Given the description of an element on the screen output the (x, y) to click on. 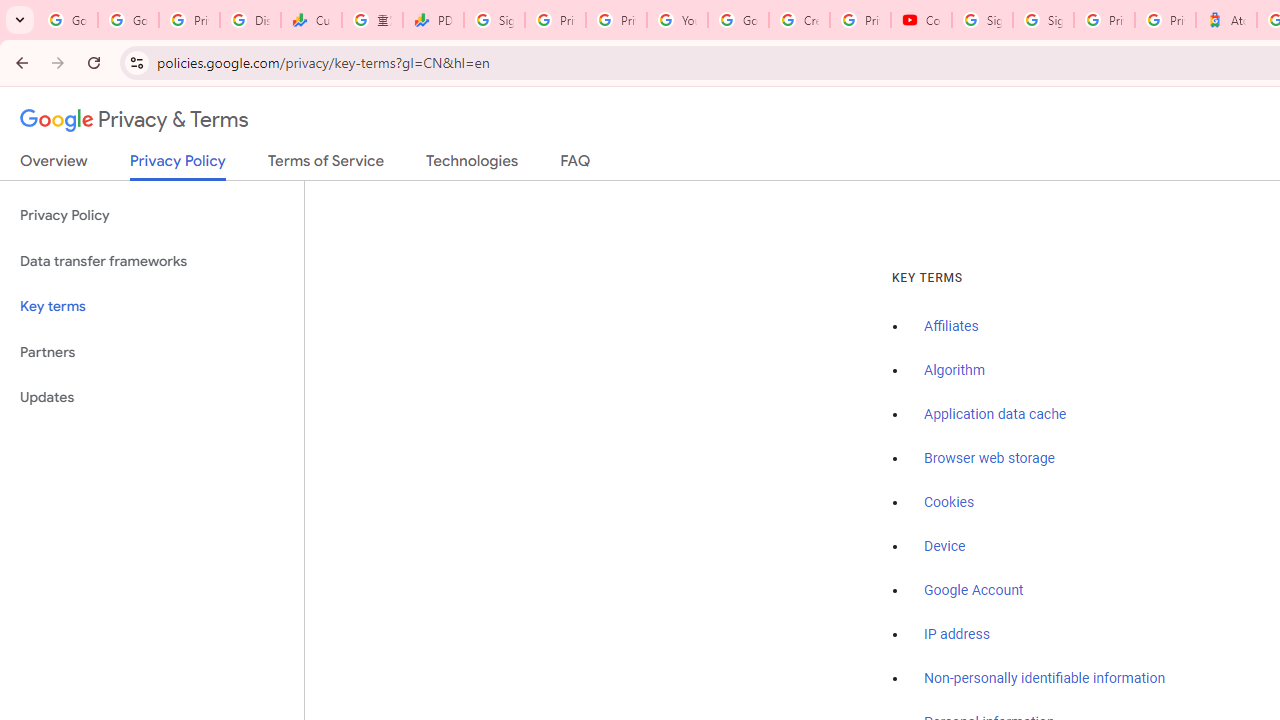
Google Workspace Admin Community (67, 20)
